Given the description of an element on the screen output the (x, y) to click on. 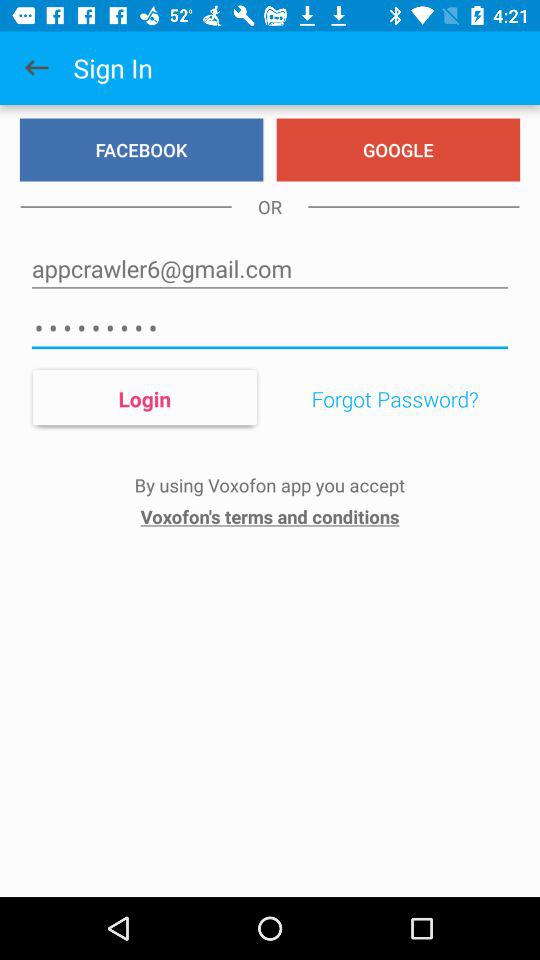
open the icon to the left of forgot password? (144, 398)
